Given the description of an element on the screen output the (x, y) to click on. 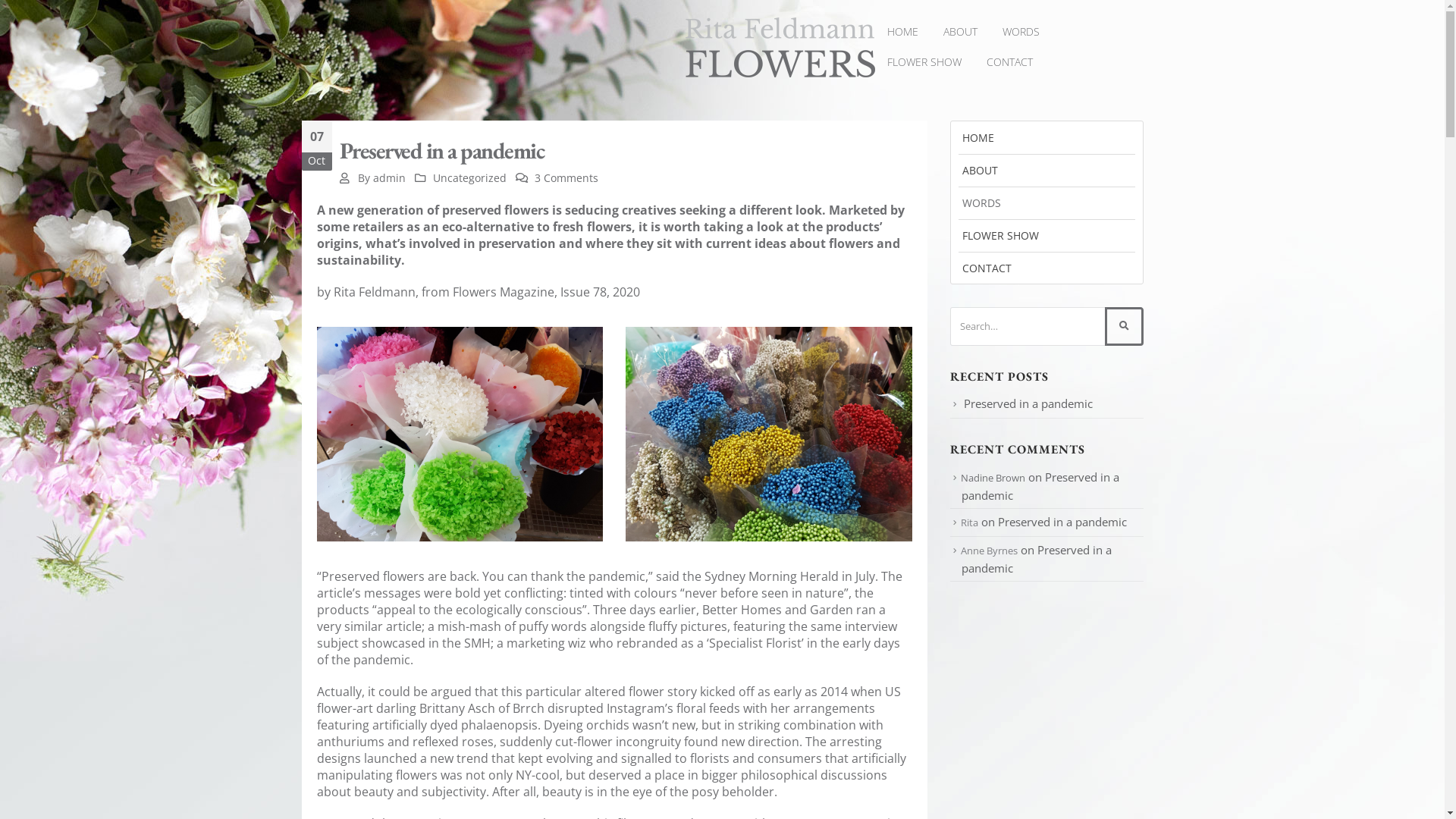
Preserved in a pandemic Element type: text (1040, 485)
FLOWER SHOW Element type: text (924, 62)
HOME Element type: text (1046, 137)
admin Element type: text (389, 177)
Preserved in a pandemic Element type: text (1036, 558)
WORDS Element type: text (1046, 202)
Preserved in a pandemic Element type: text (1061, 521)
HOME Element type: text (902, 31)
ABOUT Element type: text (1046, 169)
Preserved in a pandemic Element type: text (1027, 403)
3 Comments Element type: text (566, 177)
ABOUT Element type: text (960, 31)
Nadine Brown Element type: text (992, 477)
Flowers Magazine Element type: text (502, 291)
FLOWER SHOW Element type: text (1046, 235)
Uncategorized Element type: text (469, 177)
CONTACT Element type: text (1046, 267)
Feldmann Flowers - Wedding Flowers Yarra Valley Melbourne Element type: hover (780, 46)
CONTACT Element type: text (1008, 62)
WORDS Element type: text (1020, 31)
